Given the description of an element on the screen output the (x, y) to click on. 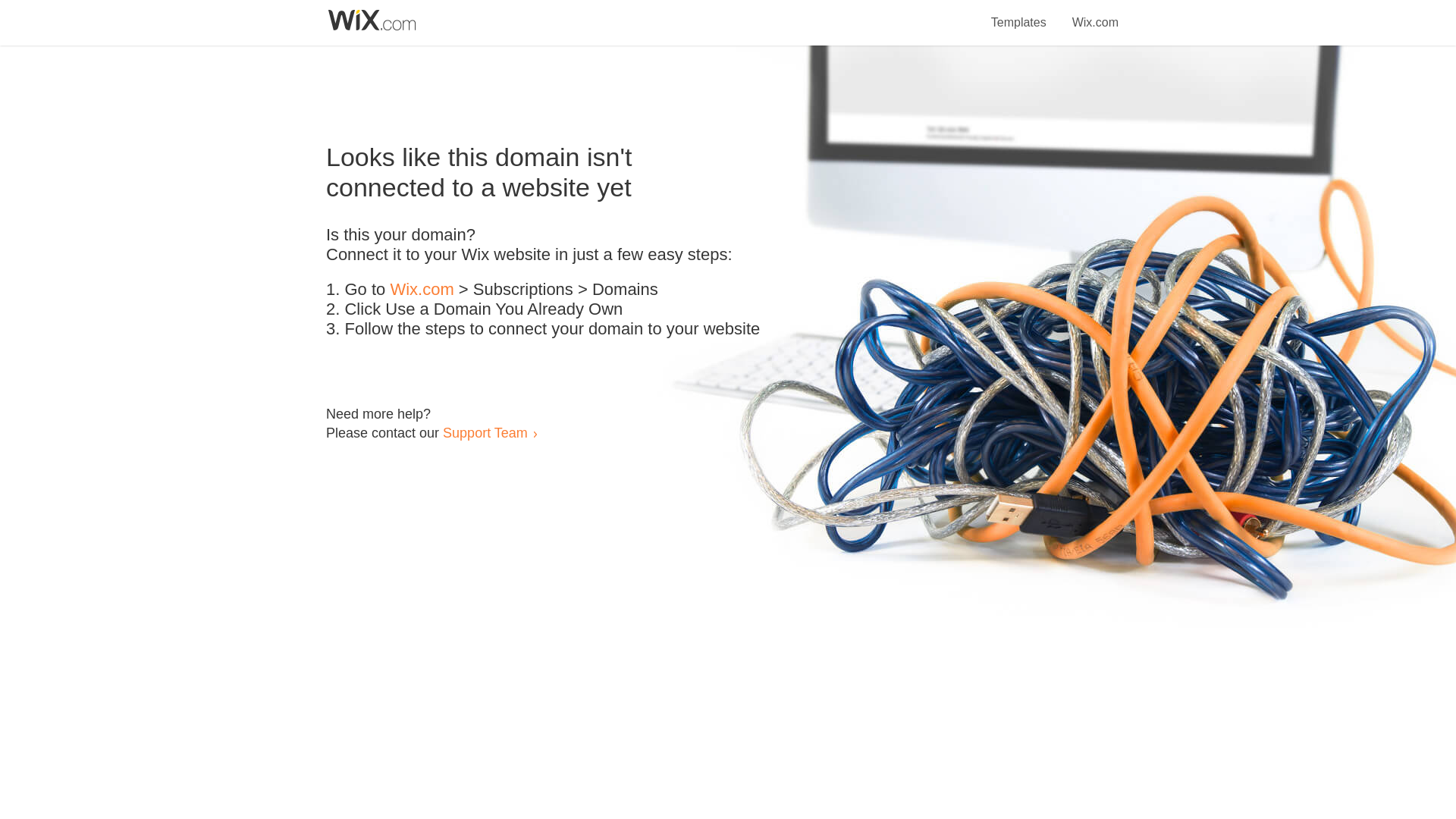
Wix.com (421, 289)
Support Team (484, 432)
Templates (1018, 14)
Wix.com (1095, 14)
